Given the description of an element on the screen output the (x, y) to click on. 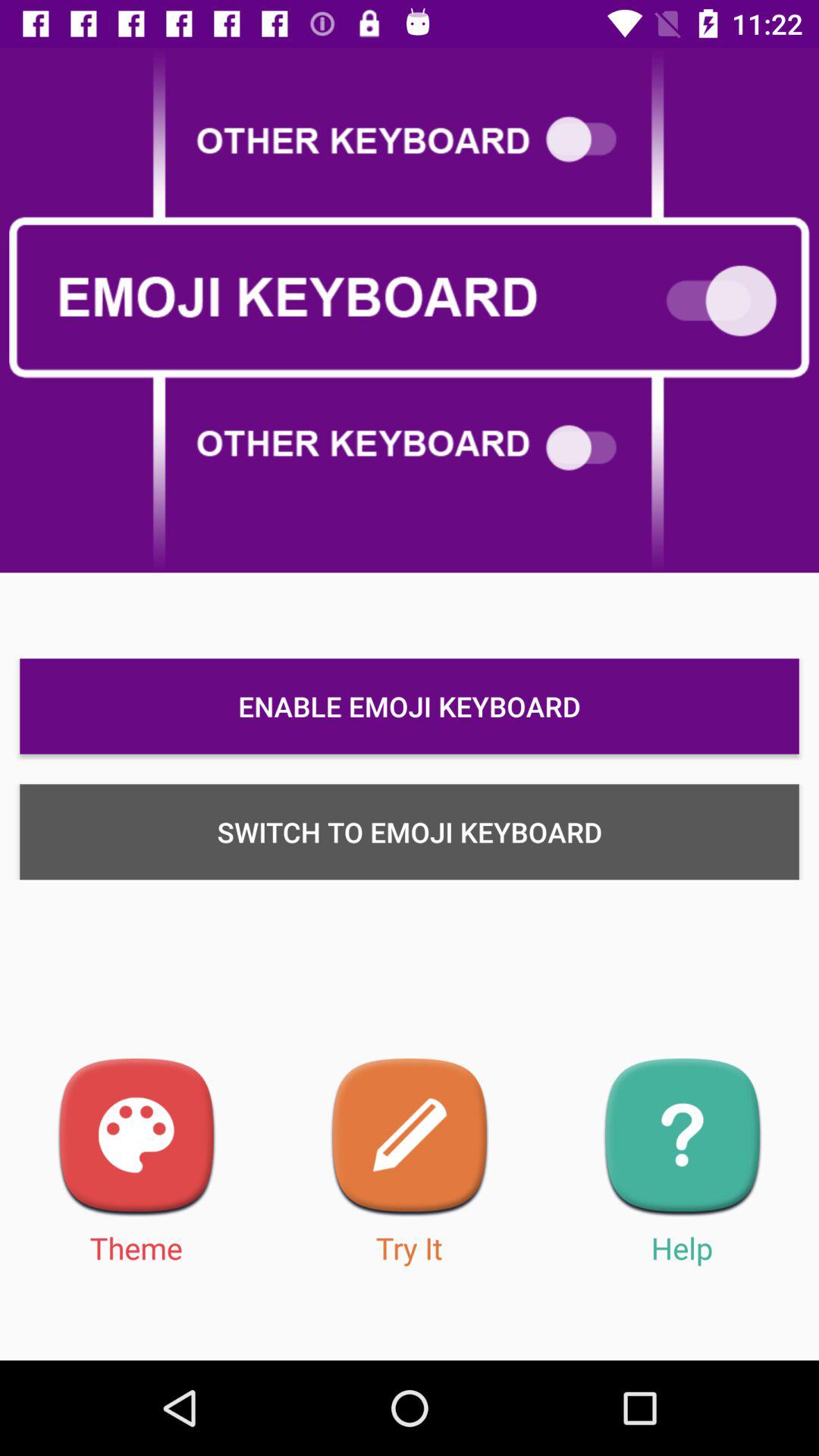
edit text (409, 1137)
